Given the description of an element on the screen output the (x, y) to click on. 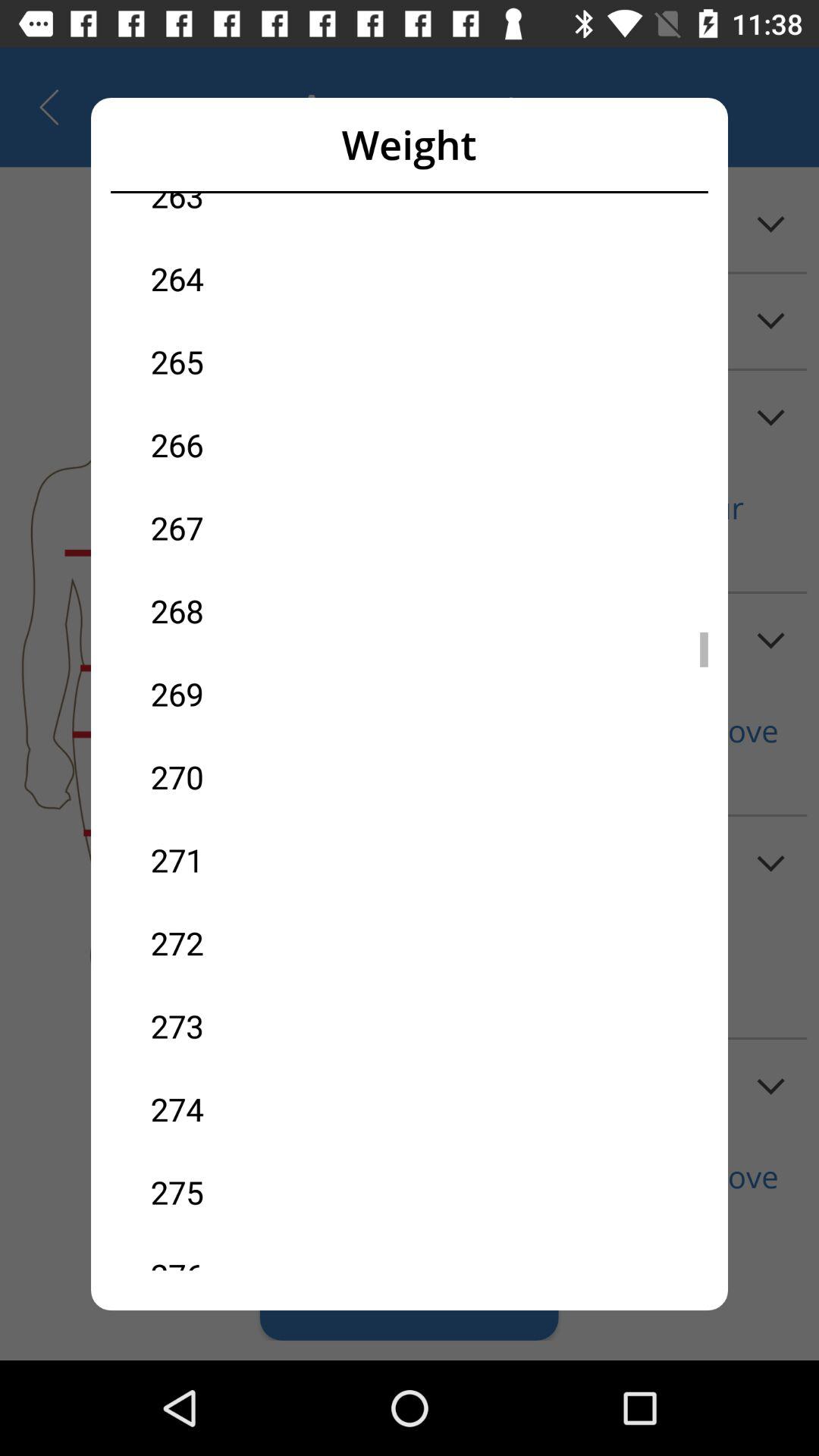
scroll to the 265 item (279, 361)
